Given the description of an element on the screen output the (x, y) to click on. 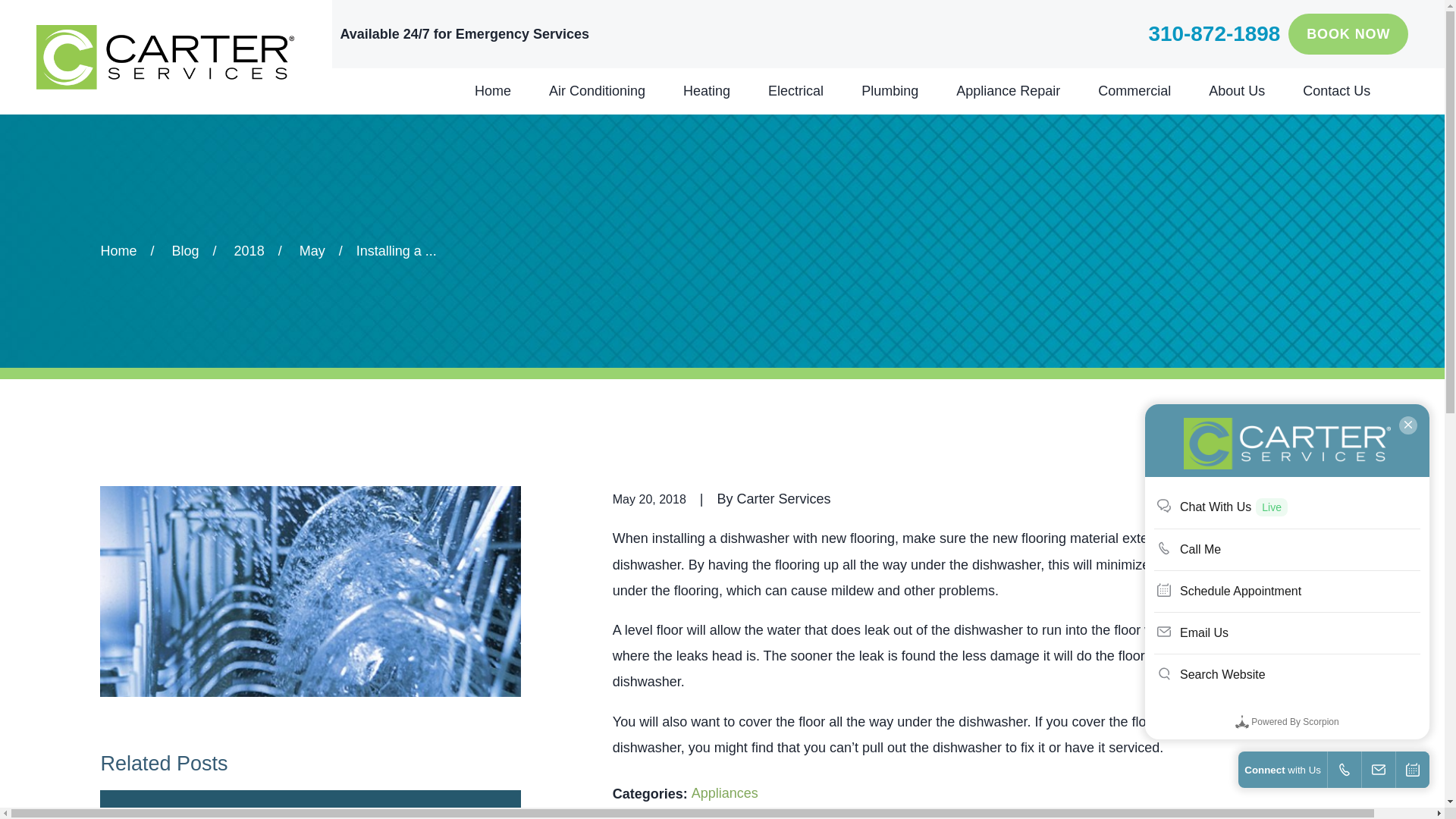
Electrical (796, 90)
BOOK NOW (1347, 33)
Air Conditioning (596, 90)
Home (165, 57)
Go Home (118, 250)
Heating (706, 90)
Plumbing (889, 90)
310-872-1898 (1213, 34)
Home (492, 90)
Appliance Repair (1007, 90)
